Given the description of an element on the screen output the (x, y) to click on. 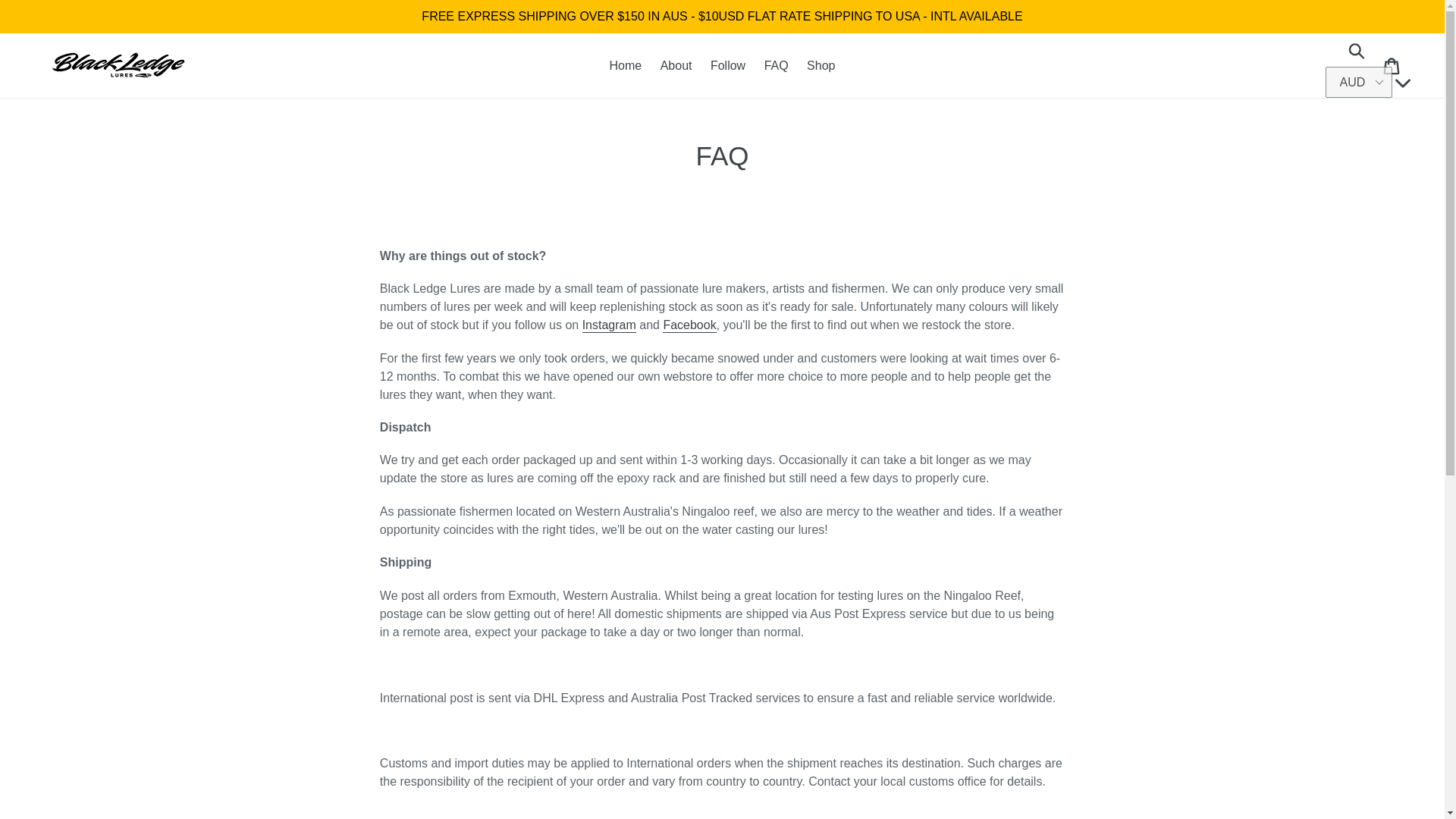
FAQ (776, 65)
Instagram (609, 325)
Instagram (609, 325)
Home (625, 65)
Shop (821, 65)
Cart (1392, 64)
About (676, 65)
Submit (1357, 49)
Facebook (689, 325)
Facebook (689, 325)
Follow (727, 65)
